Given the description of an element on the screen output the (x, y) to click on. 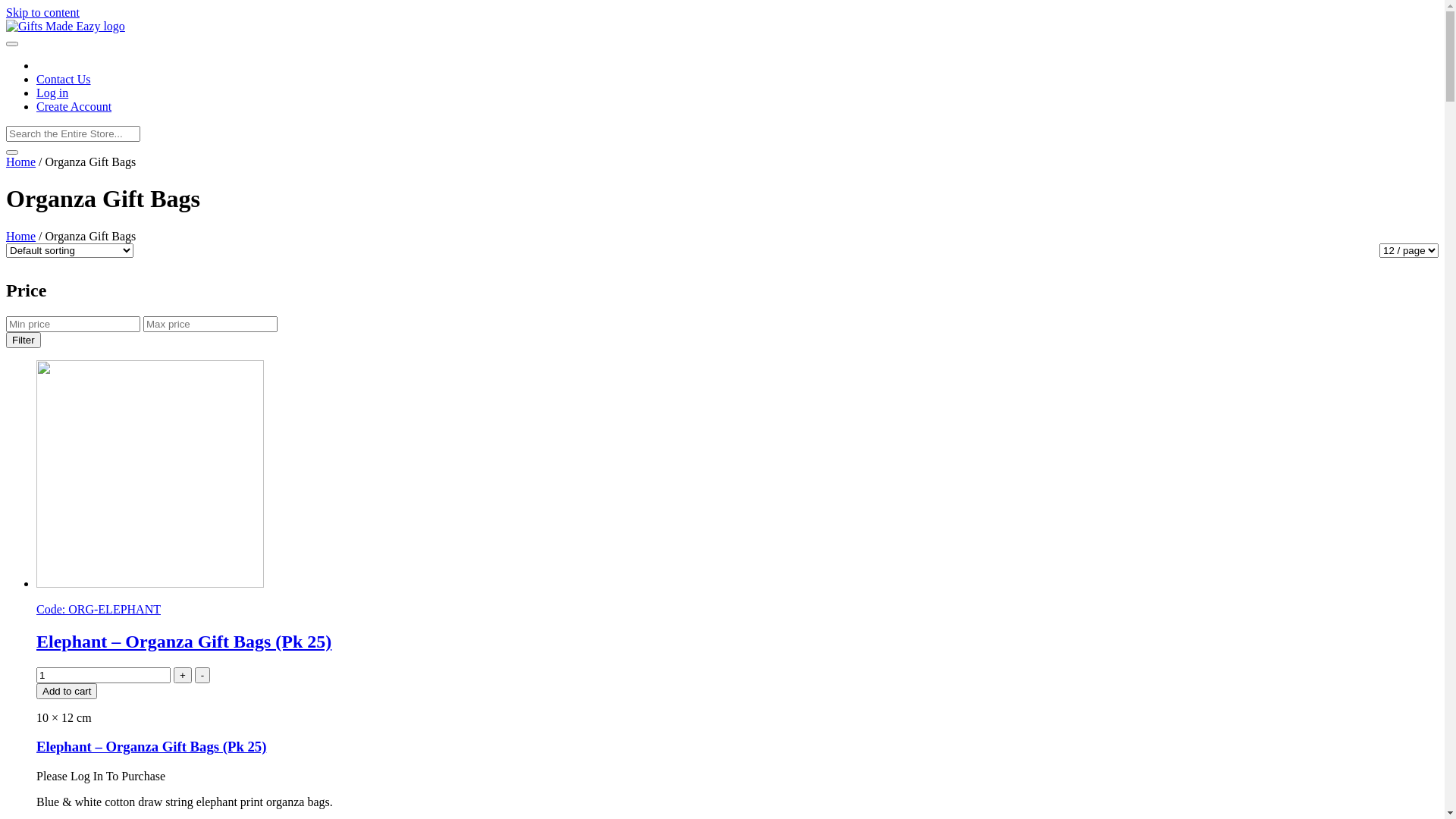
Create Account Element type: text (73, 106)
Log in Element type: text (52, 92)
Skip to content Element type: text (42, 12)
Filter Element type: text (23, 340)
Home Element type: text (20, 161)
Contact Us Element type: text (63, 78)
Home Element type: text (20, 235)
Add to cart Element type: text (66, 690)
Qty Element type: hover (103, 675)
